Given the description of an element on the screen output the (x, y) to click on. 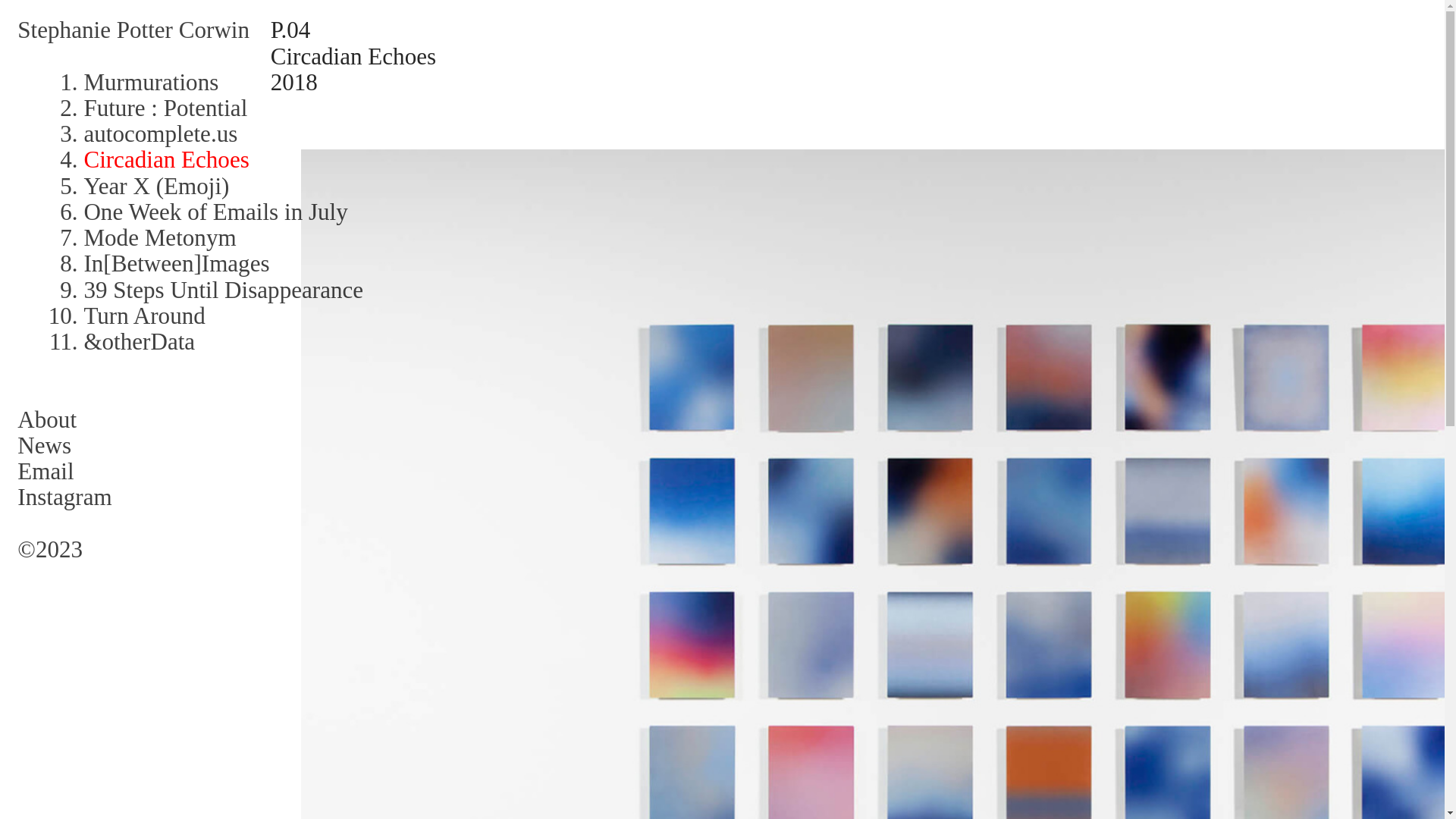
Stephanie Potter Corwin (132, 29)
Turn Around (143, 315)
News (44, 445)
Murmurations (150, 81)
Circadian Echoes (165, 159)
One Week of Emails in July (214, 212)
autocomplete.us (159, 133)
Email (45, 470)
Instagram (64, 497)
Mode Metonym (158, 237)
39 Steps Until Disappearance (222, 289)
Future : Potential (164, 108)
About (47, 419)
